Given the description of an element on the screen output the (x, y) to click on. 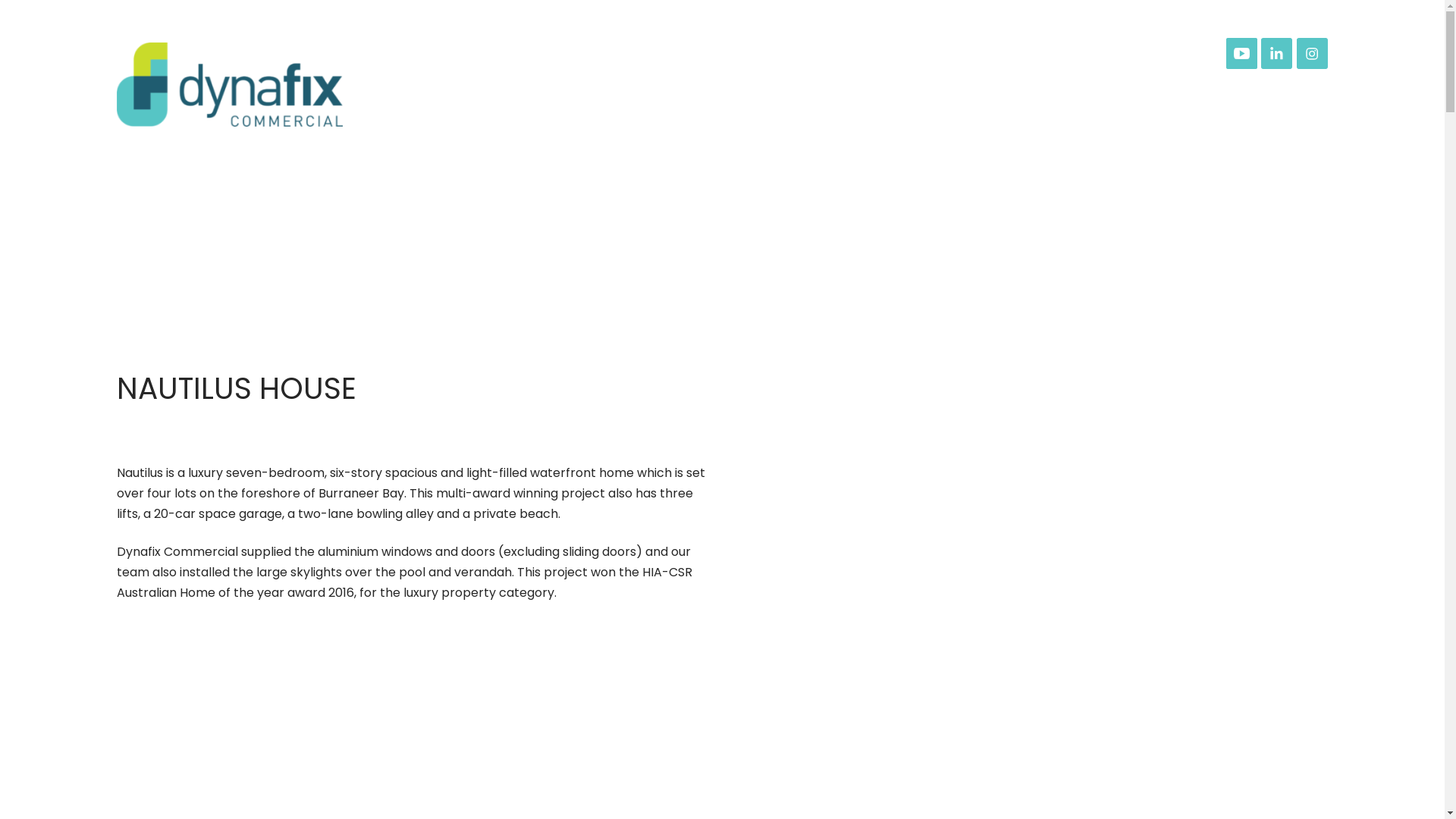
CONTACT US Element type: text (1265, 92)
PROJECTS Element type: text (1030, 93)
ABOUT US Element type: text (776, 93)
NEWS Element type: text (1141, 93)
HOME Element type: text (663, 93)
SERVICES Element type: text (902, 93)
